Given the description of an element on the screen output the (x, y) to click on. 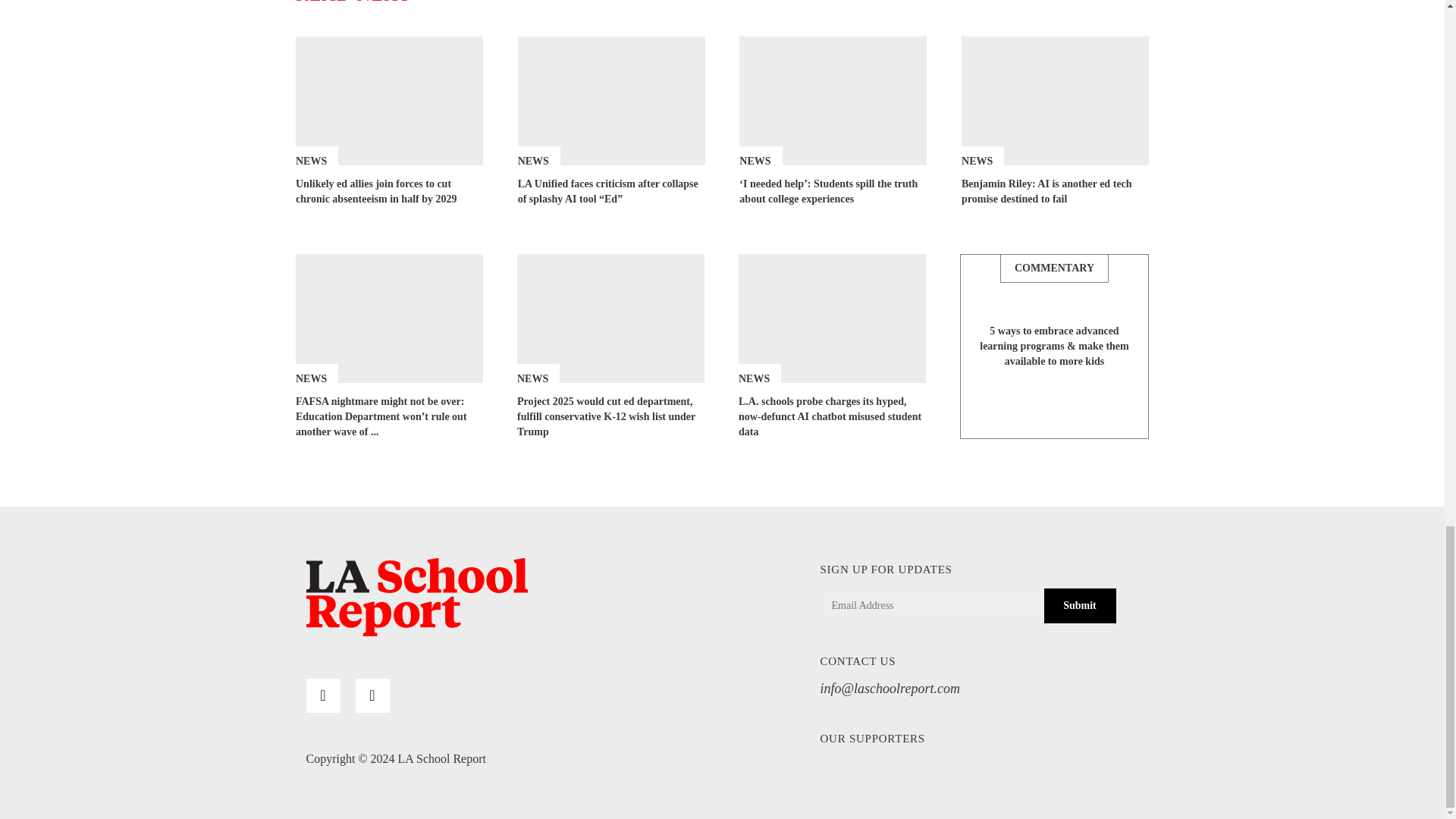
Submit (1079, 605)
